Given the description of an element on the screen output the (x, y) to click on. 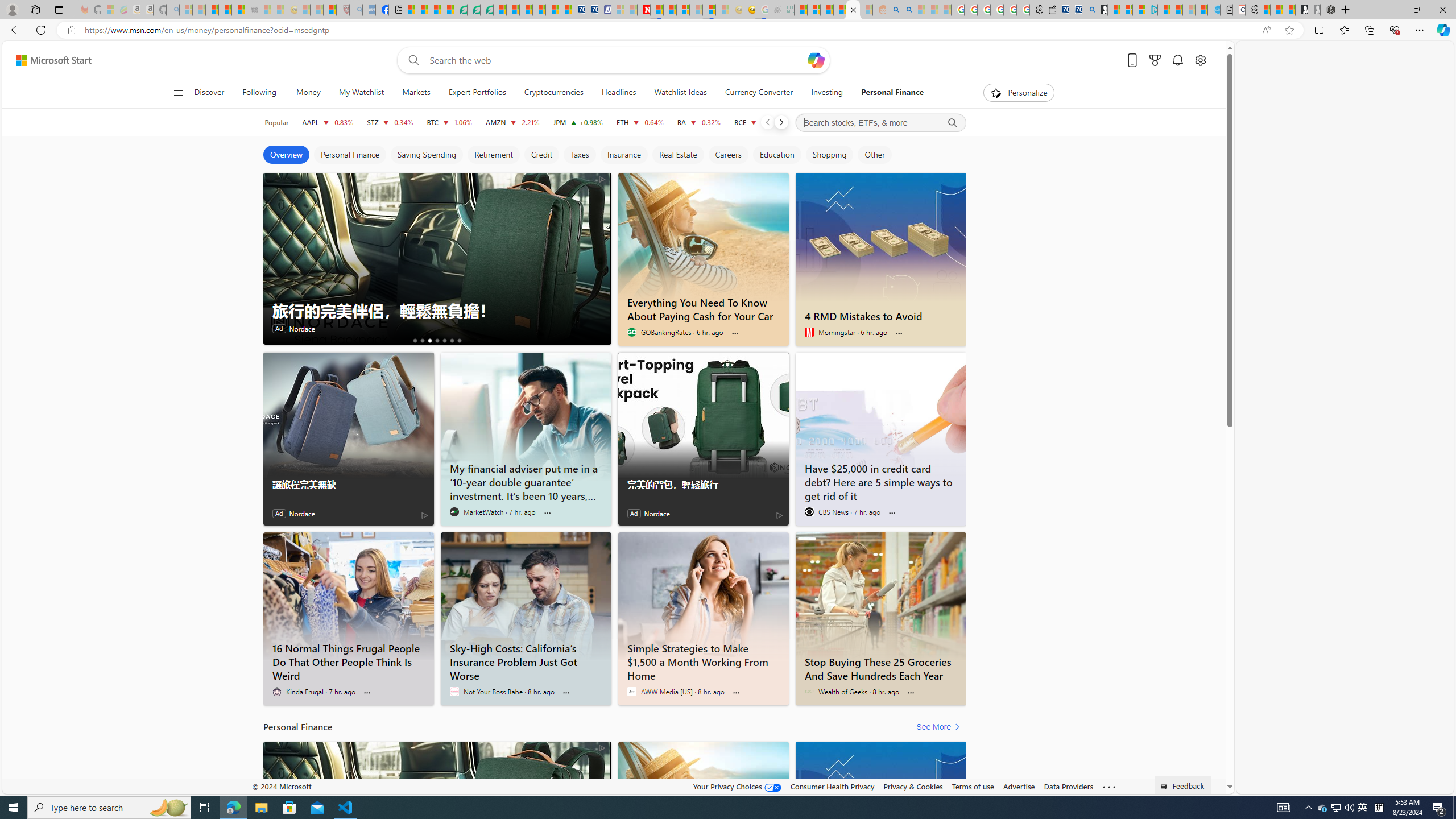
Personal Finance (887, 92)
AdChoices (601, 747)
AAPL APPLE INC. decrease 224.53 -1.87 -0.83% (328, 122)
Bing Real Estate - Home sales and rental listings (1088, 9)
